Given the description of an element on the screen output the (x, y) to click on. 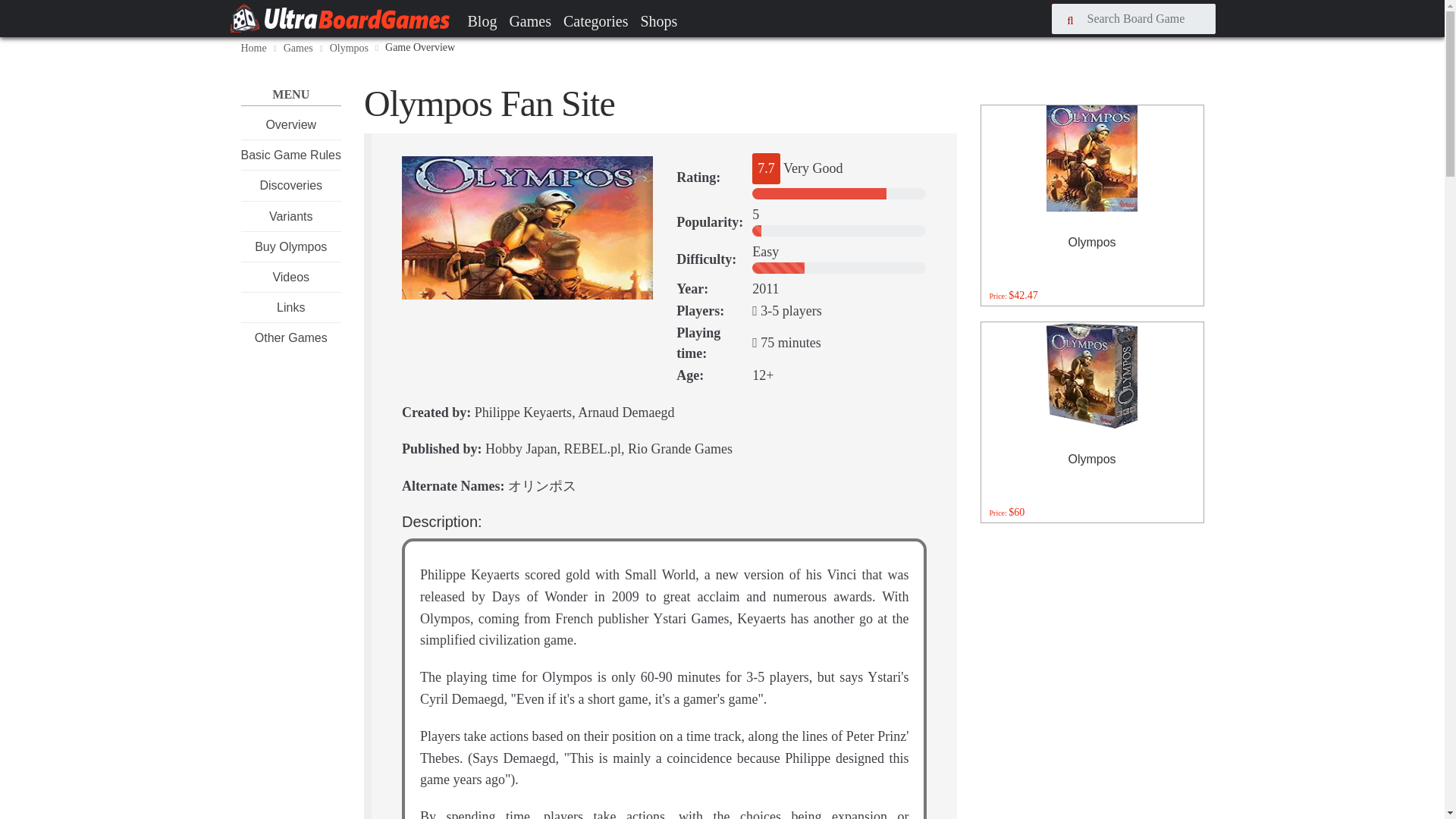
Categories (595, 20)
Other Games (290, 337)
Buy Olympos (290, 246)
Overview (289, 124)
Variants (291, 215)
Home (253, 48)
Olympos (349, 48)
Games (298, 48)
Discoveries (290, 185)
Videos (290, 277)
Shops (657, 20)
Games (529, 20)
Blog (481, 20)
Basic Game Rules (291, 154)
Links (290, 307)
